Given the description of an element on the screen output the (x, y) to click on. 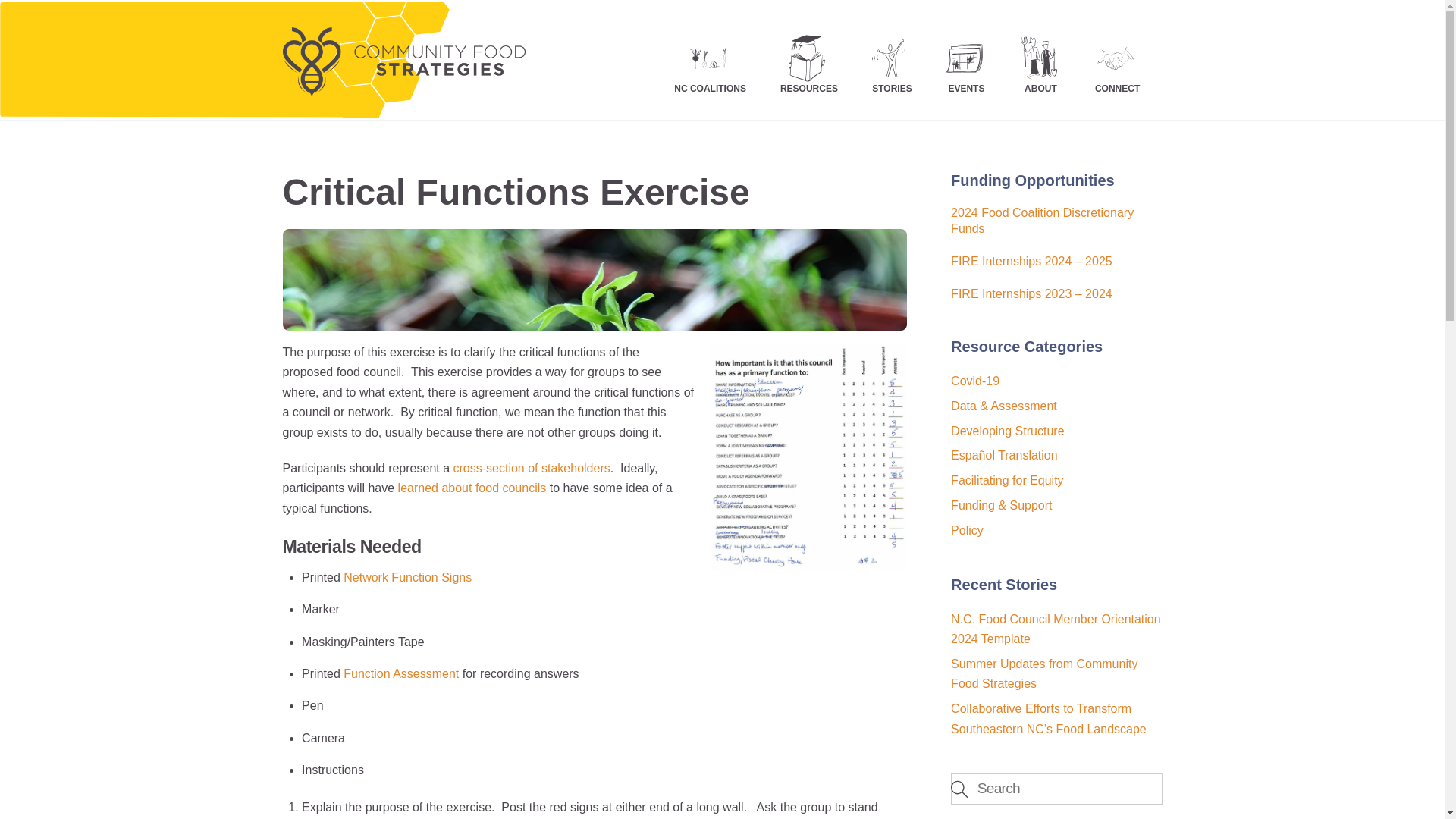
Seedlings (594, 279)
STORIES (892, 58)
Function Assessment (400, 673)
Facilitating for Equity (1007, 480)
Search (1055, 788)
Policy (967, 530)
EVENTS (966, 58)
N.C. Food Council Member Orientation 2024 Template (1055, 628)
Get Educated (721, 58)
Covid-19 (472, 487)
cross-section of stakeholders (974, 380)
Community Food Strategies (531, 468)
learned about food councils (403, 86)
Summer Updates from Community Food Strategies (472, 487)
